Given the description of an element on the screen output the (x, y) to click on. 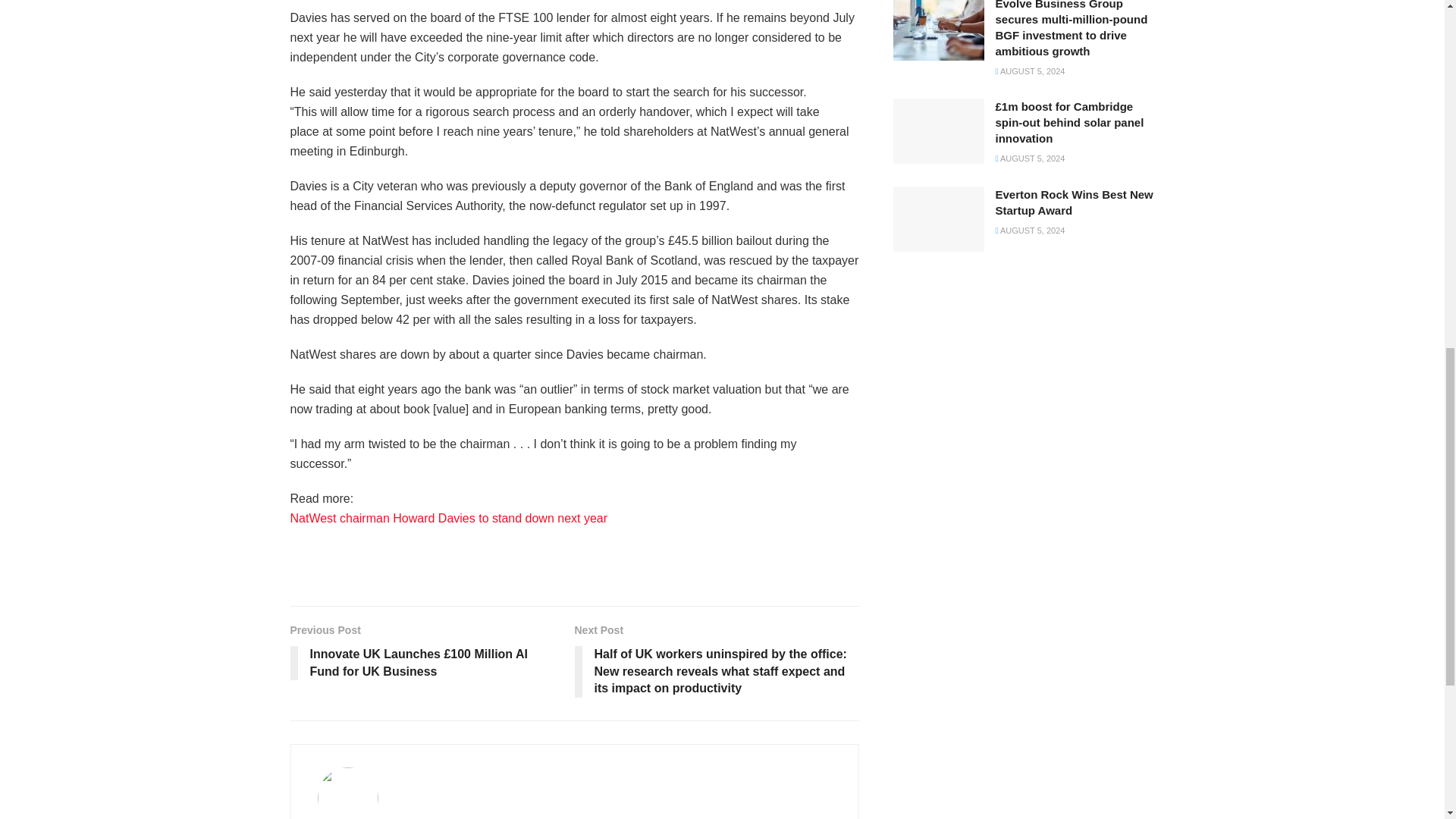
NatWest chairman Howard Davies to stand down next year (448, 517)
